Given the description of an element on the screen output the (x, y) to click on. 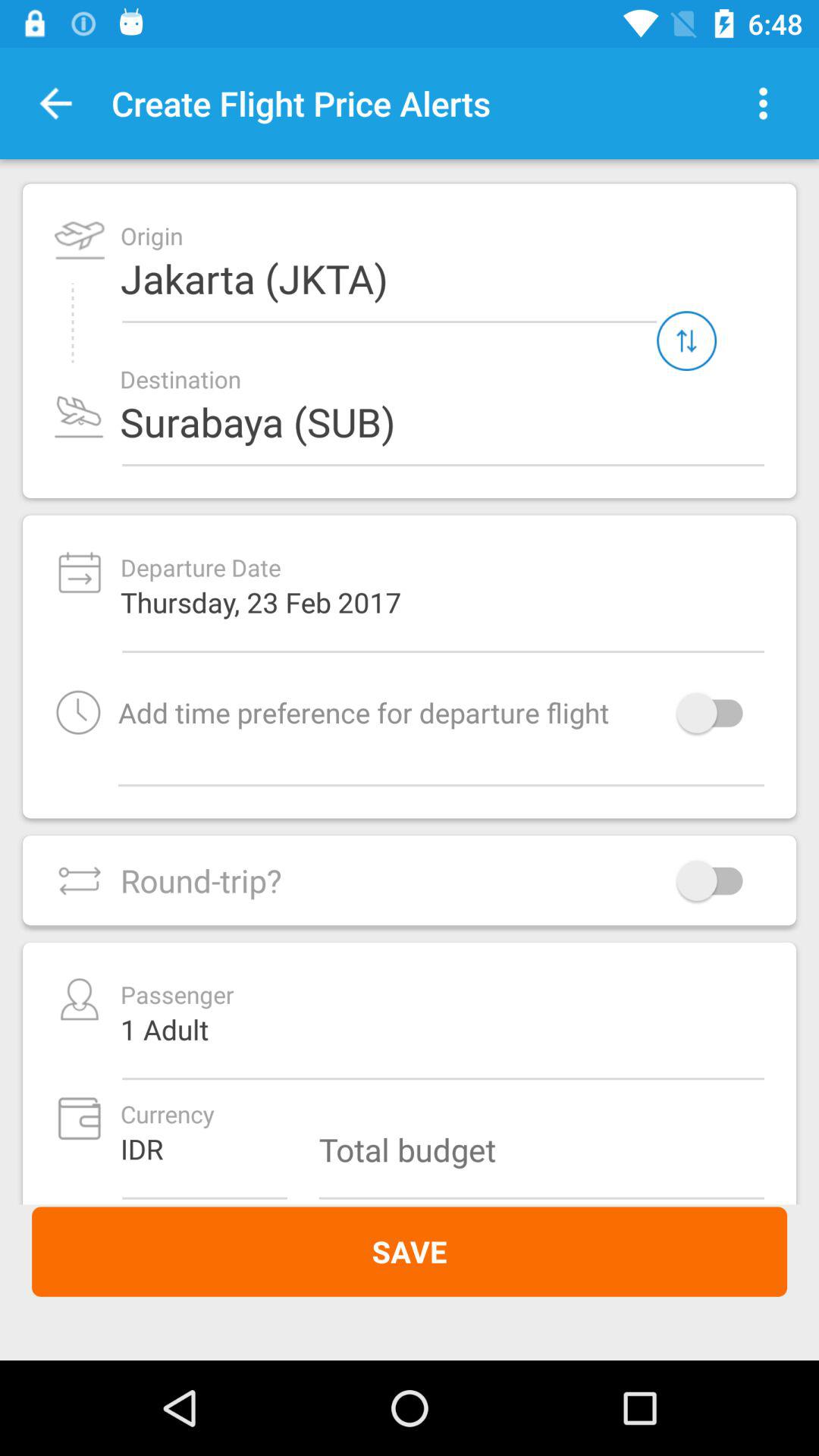
the button is used to go back (55, 103)
